Given the description of an element on the screen output the (x, y) to click on. 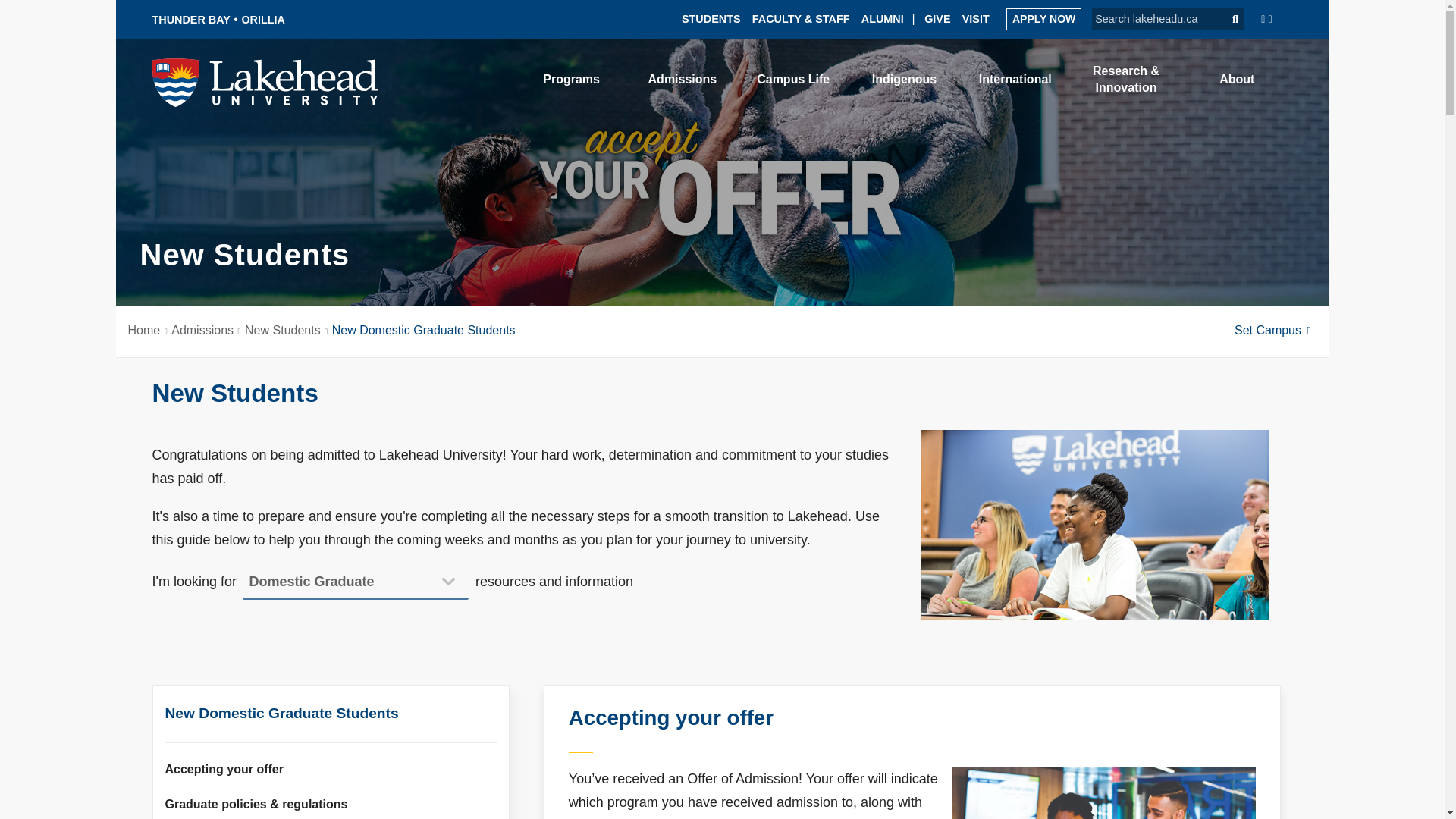
STUDENTS (711, 18)
ROMEO RESEARCH (869, 75)
Programs (571, 79)
Return to the Lakehead University home page (264, 81)
Log in to Romeo Research (869, 75)
Log in to mySuccess (1042, 82)
GIVE (937, 18)
Support Lakehead University, make a Donation (937, 18)
THUNDER BAY (190, 19)
Application Guide (1043, 19)
